Given the description of an element on the screen output the (x, y) to click on. 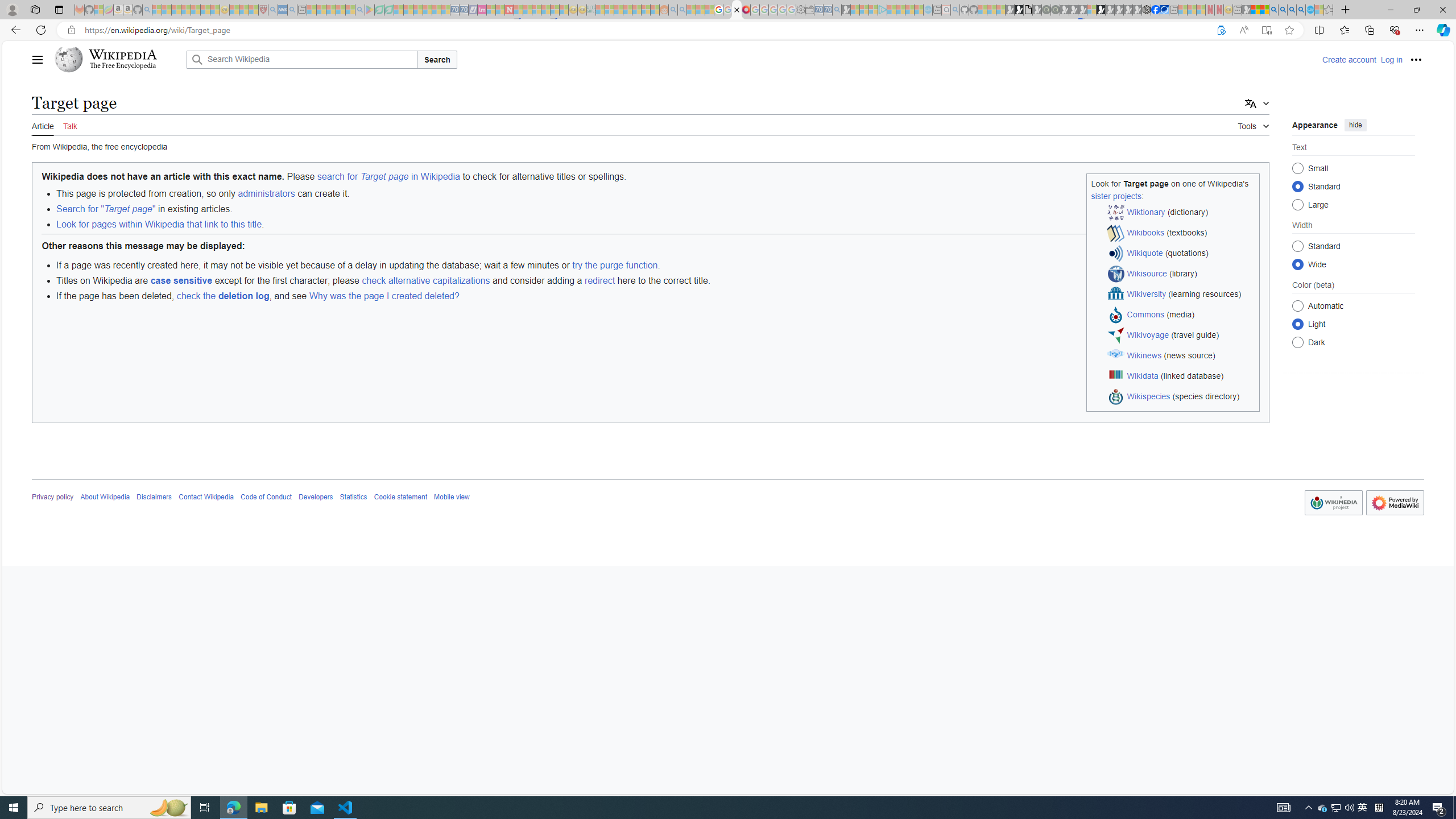
Code of Conduct (265, 496)
Wiktionary (1145, 212)
Wikinews (1143, 355)
